Given the description of an element on the screen output the (x, y) to click on. 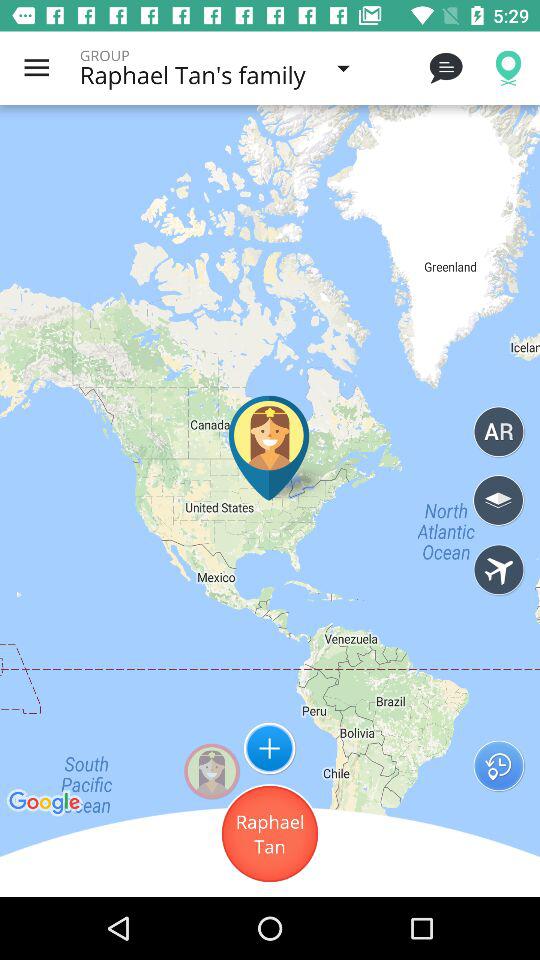
choose the icon at the bottom right corner (498, 765)
